Given the description of an element on the screen output the (x, y) to click on. 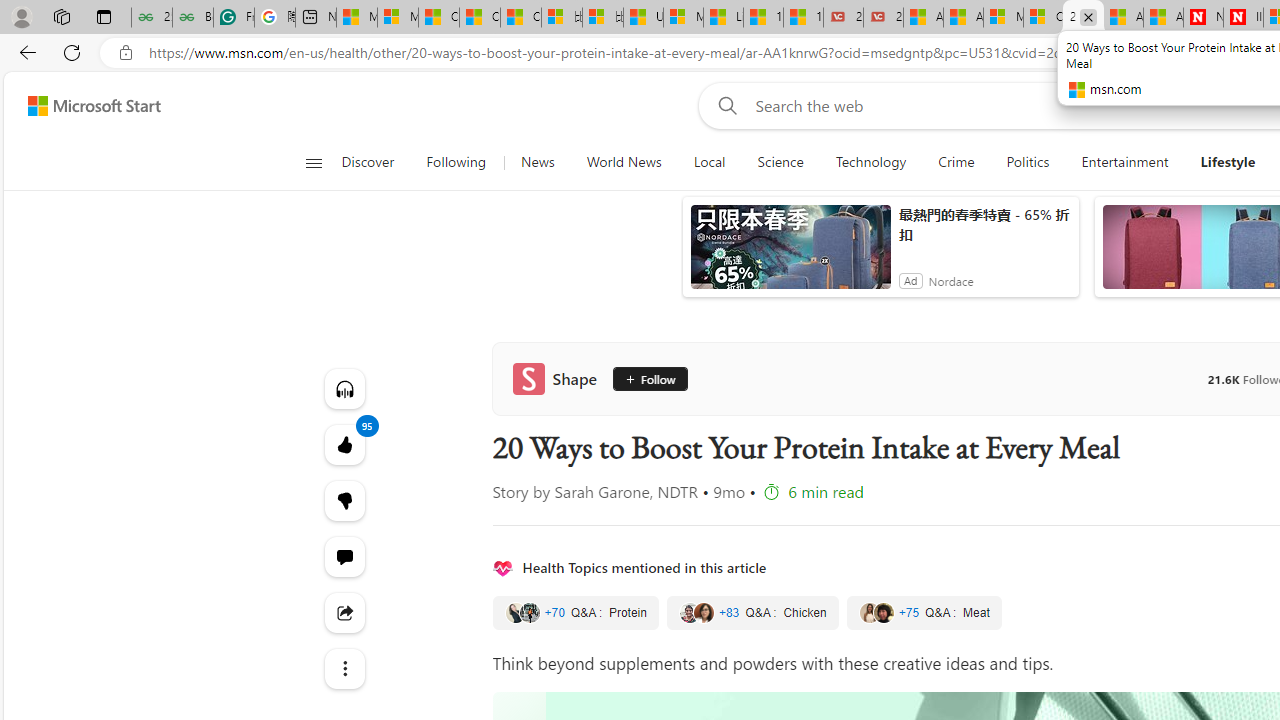
Politics (1027, 162)
Ad (909, 280)
Listen to this article (343, 388)
Follow (643, 378)
USA TODAY - MSN (643, 17)
Entertainment (1124, 162)
25 Basic Linux Commands For Beginners - GeeksforGeeks (151, 17)
Meat (924, 613)
Newsweek - News, Analysis, Politics, Business, Technology (1203, 17)
Share this story (343, 612)
